Given the description of an element on the screen output the (x, y) to click on. 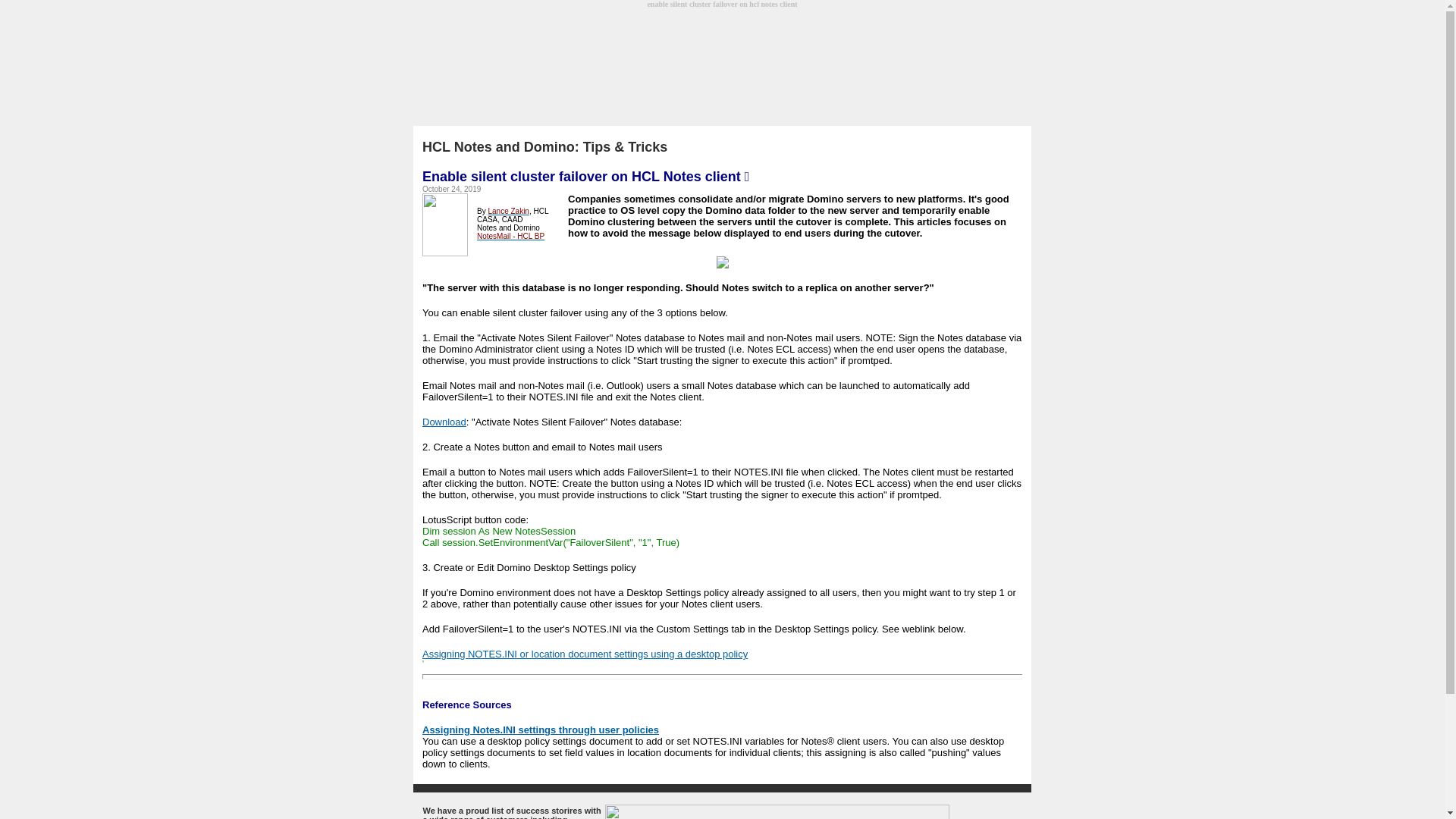
Assigning Notes.INI settings through user policies (540, 728)
Download (443, 420)
Lance Zakin (507, 209)
NotesMail - HCL BP (510, 234)
